Given the description of an element on the screen output the (x, y) to click on. 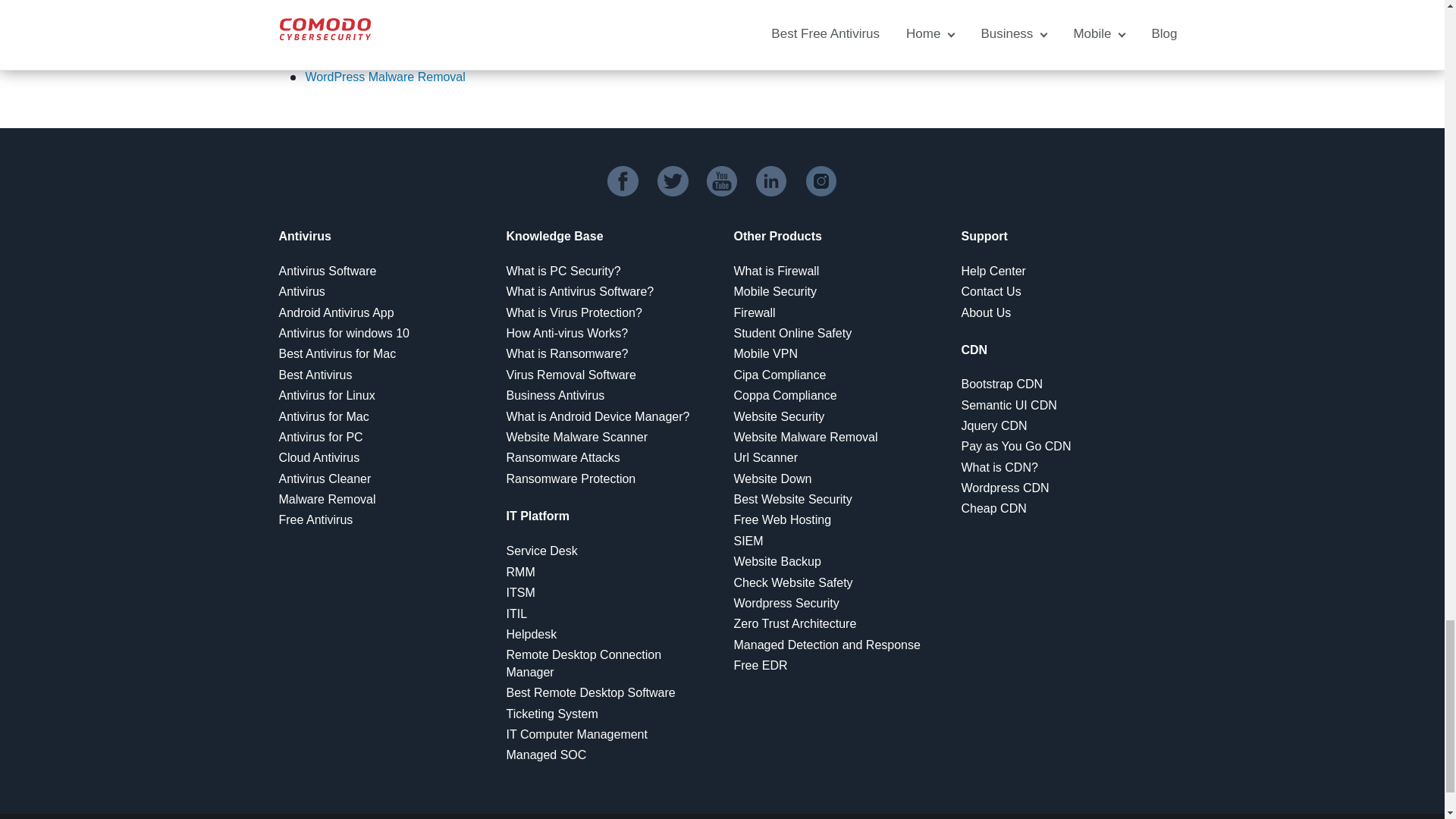
facebook (623, 181)
Best Malware Removal (366, 47)
youtube (722, 181)
twitter (673, 181)
instagram (821, 181)
WordPress Malware Removal (384, 76)
linkedin (771, 181)
